Given the description of an element on the screen output the (x, y) to click on. 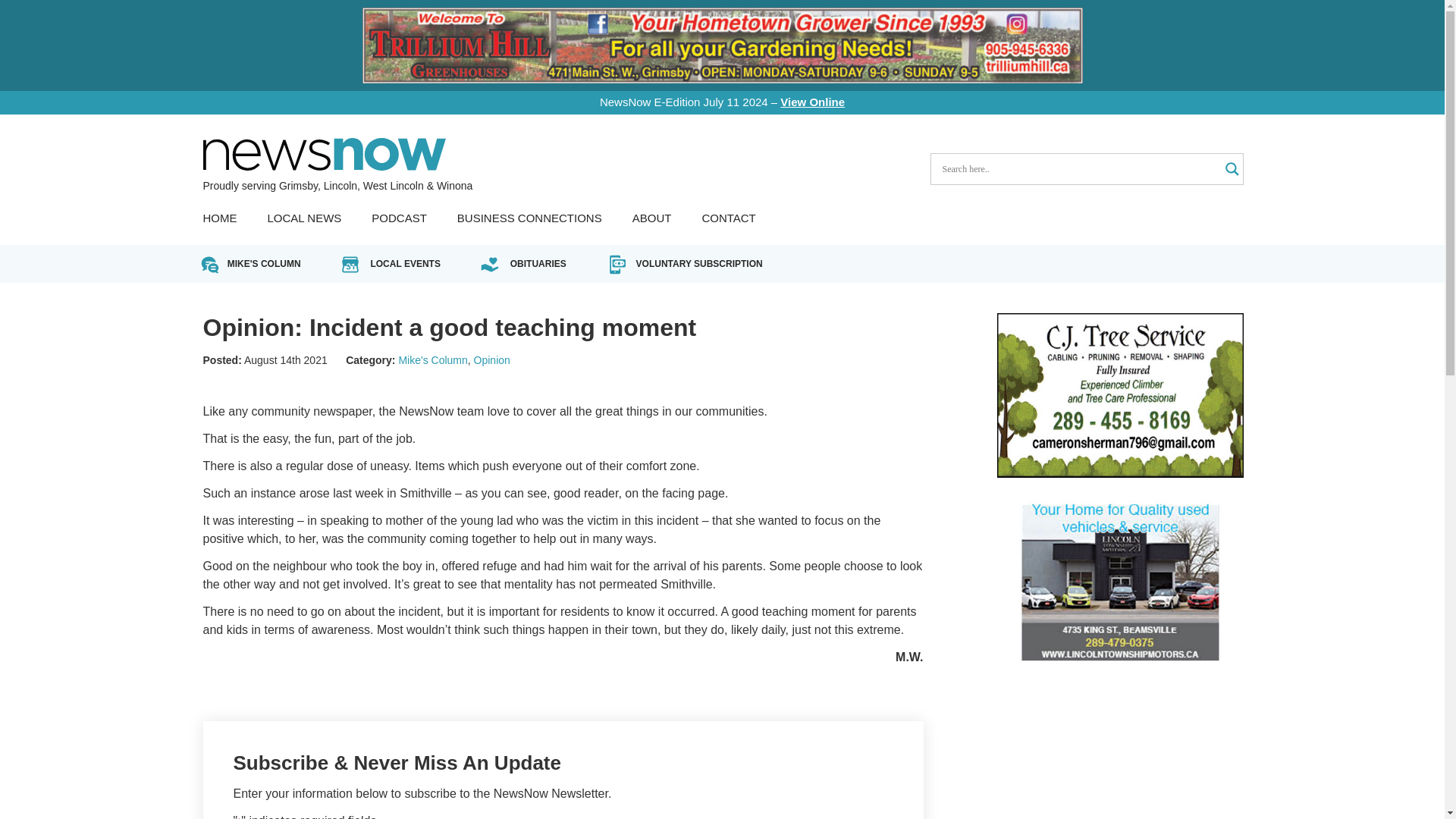
CONTACT (728, 218)
LOCAL NEWS (303, 218)
BUSINESS CONNECTIONS (529, 218)
ABOUT (651, 218)
View Online (812, 101)
HOME (220, 218)
PODCAST (398, 218)
